Given the description of an element on the screen output the (x, y) to click on. 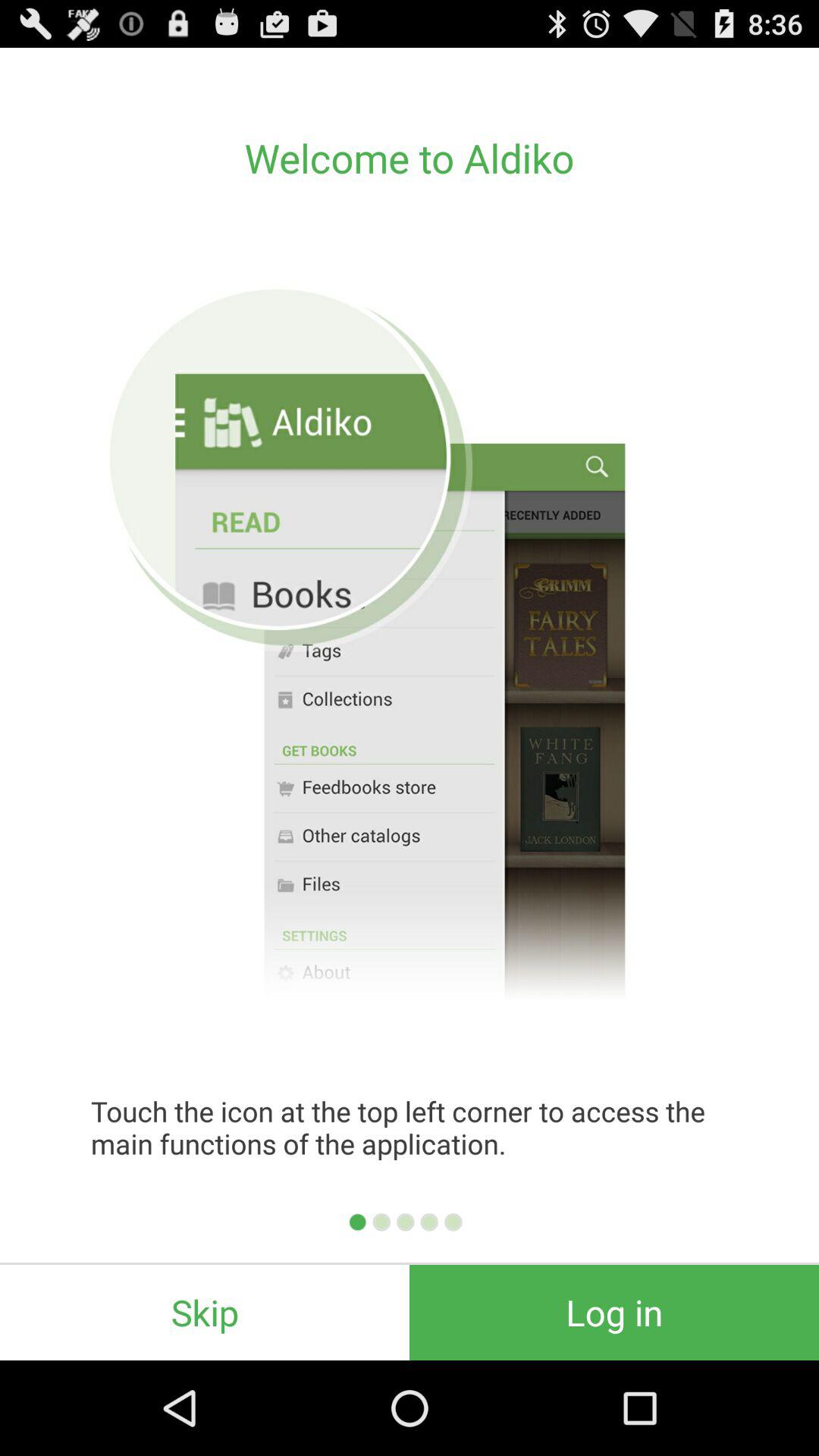
press item at the bottom right corner (614, 1312)
